Given the description of an element on the screen output the (x, y) to click on. 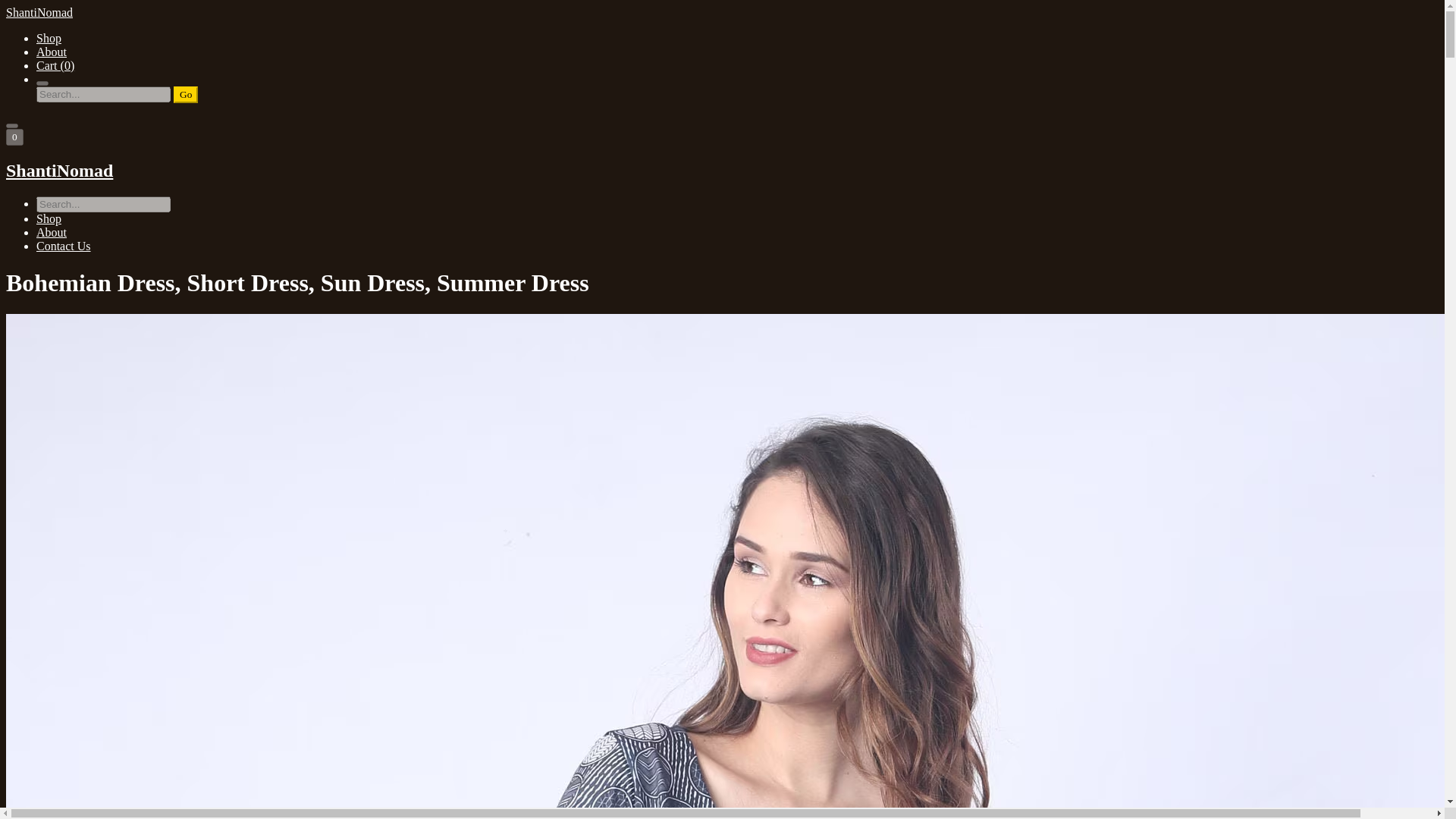
Shop (48, 38)
0 (14, 136)
ShantiNomad (721, 170)
Go (185, 94)
About (51, 51)
Shop (48, 218)
Contact Us (63, 245)
Go (185, 94)
About (51, 232)
